Given the description of an element on the screen output the (x, y) to click on. 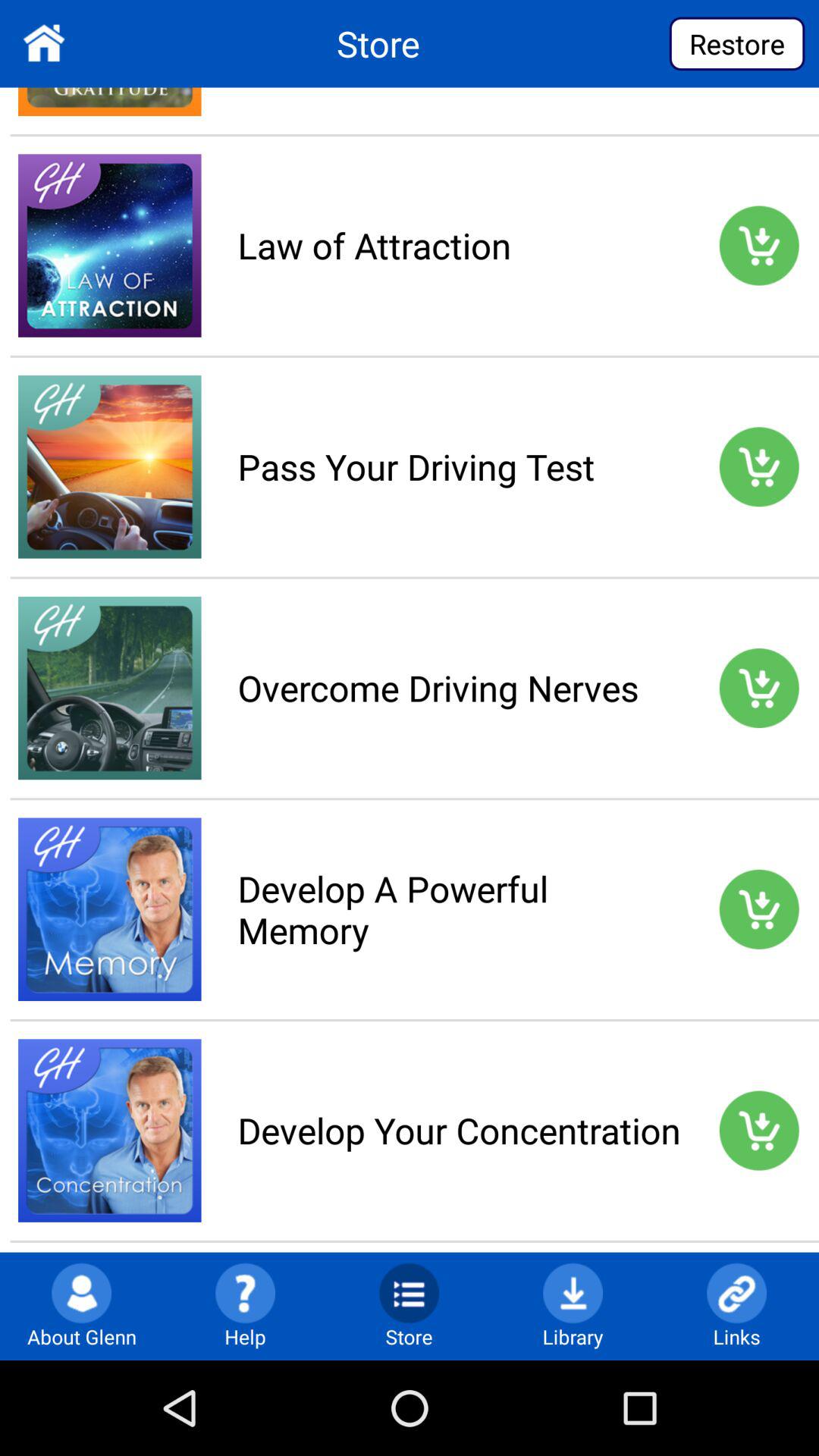
scroll to law of attraction icon (459, 245)
